Given the description of an element on the screen output the (x, y) to click on. 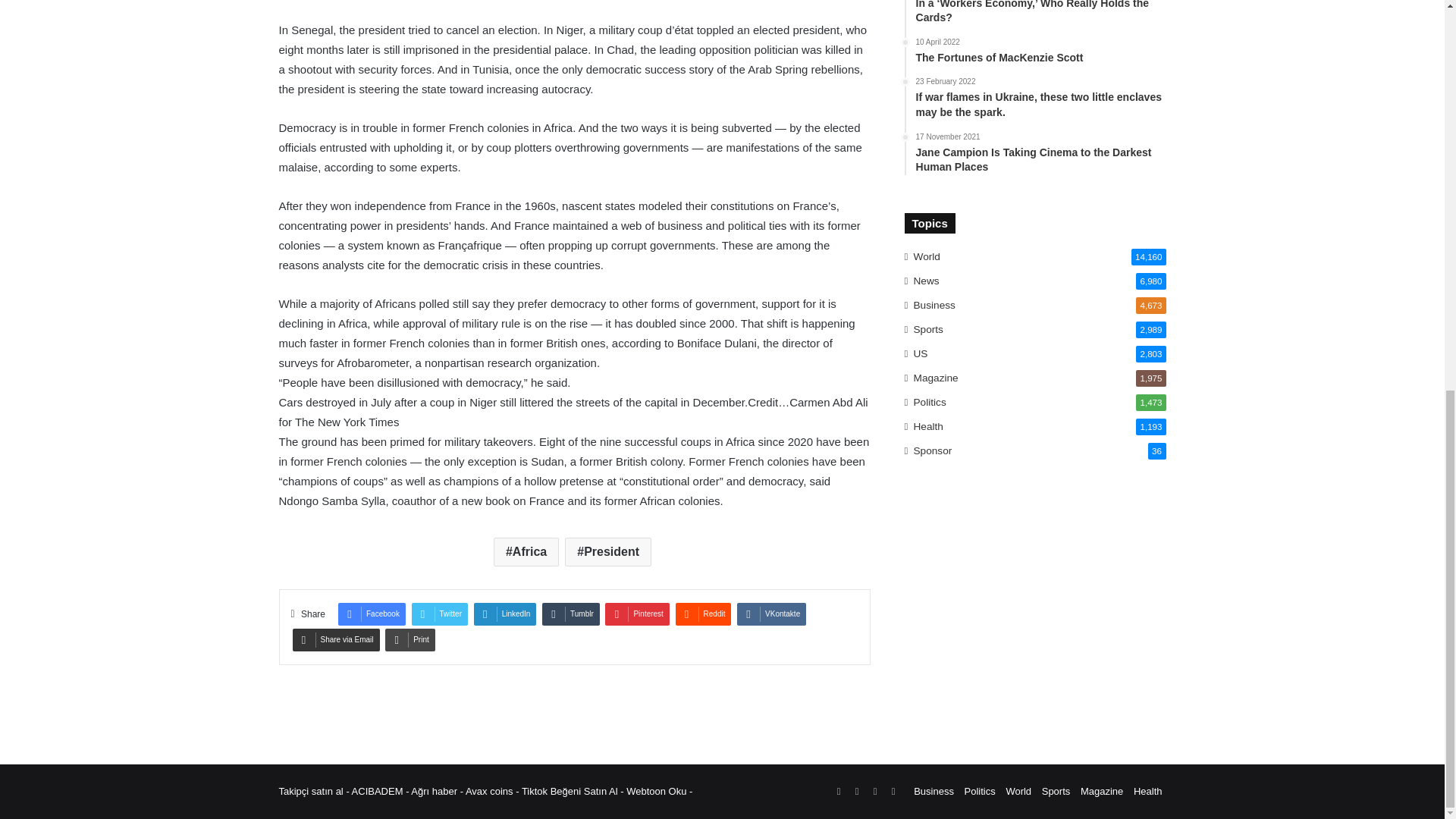
President (607, 551)
Africa (526, 551)
